Given the description of an element on the screen output the (x, y) to click on. 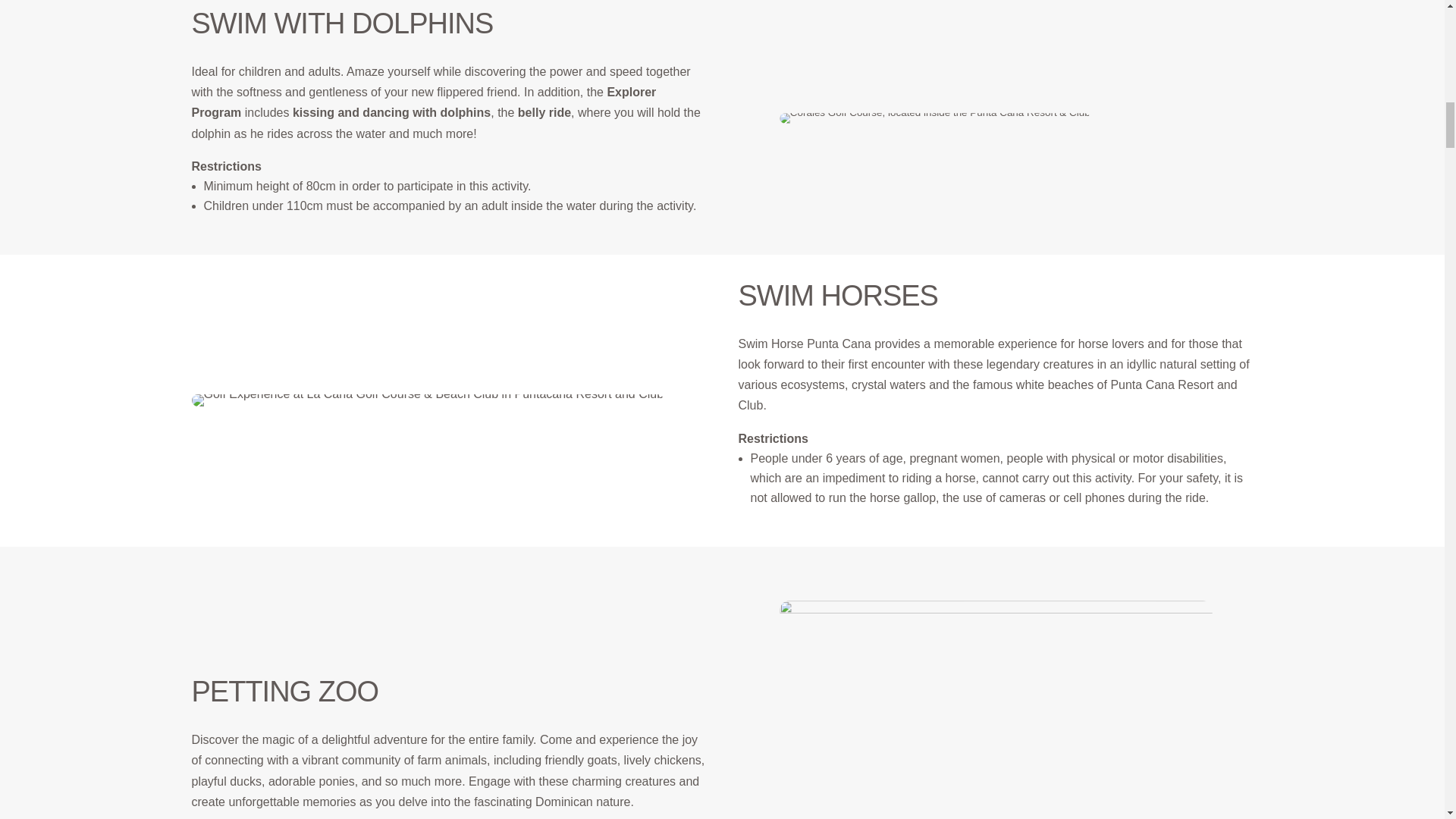
pexels-leonardo-rossatti-2612565 (426, 399)
pexels-rdne-stock-project-7782396 (1036, 709)
Dovinet-93ba00d7-96c5-4895-b202-692b5796399a (963, 119)
